Given the description of an element on the screen output the (x, y) to click on. 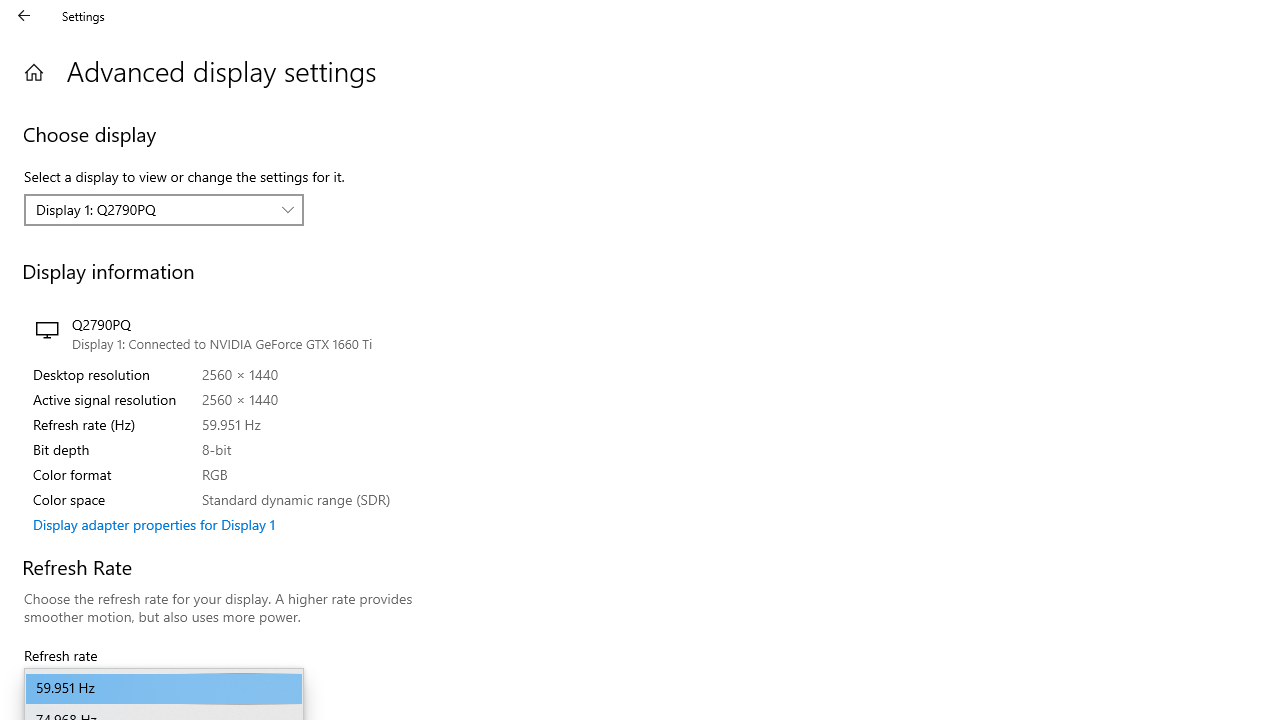
Select a display to view or change the settings for it. (164, 209)
Display adapter properties for Display 1 (154, 524)
Home (33, 71)
Display 1: Q2790PQ (153, 209)
Refresh rate (164, 688)
59.951 Hz (164, 688)
Back (24, 15)
